Given the description of an element on the screen output the (x, y) to click on. 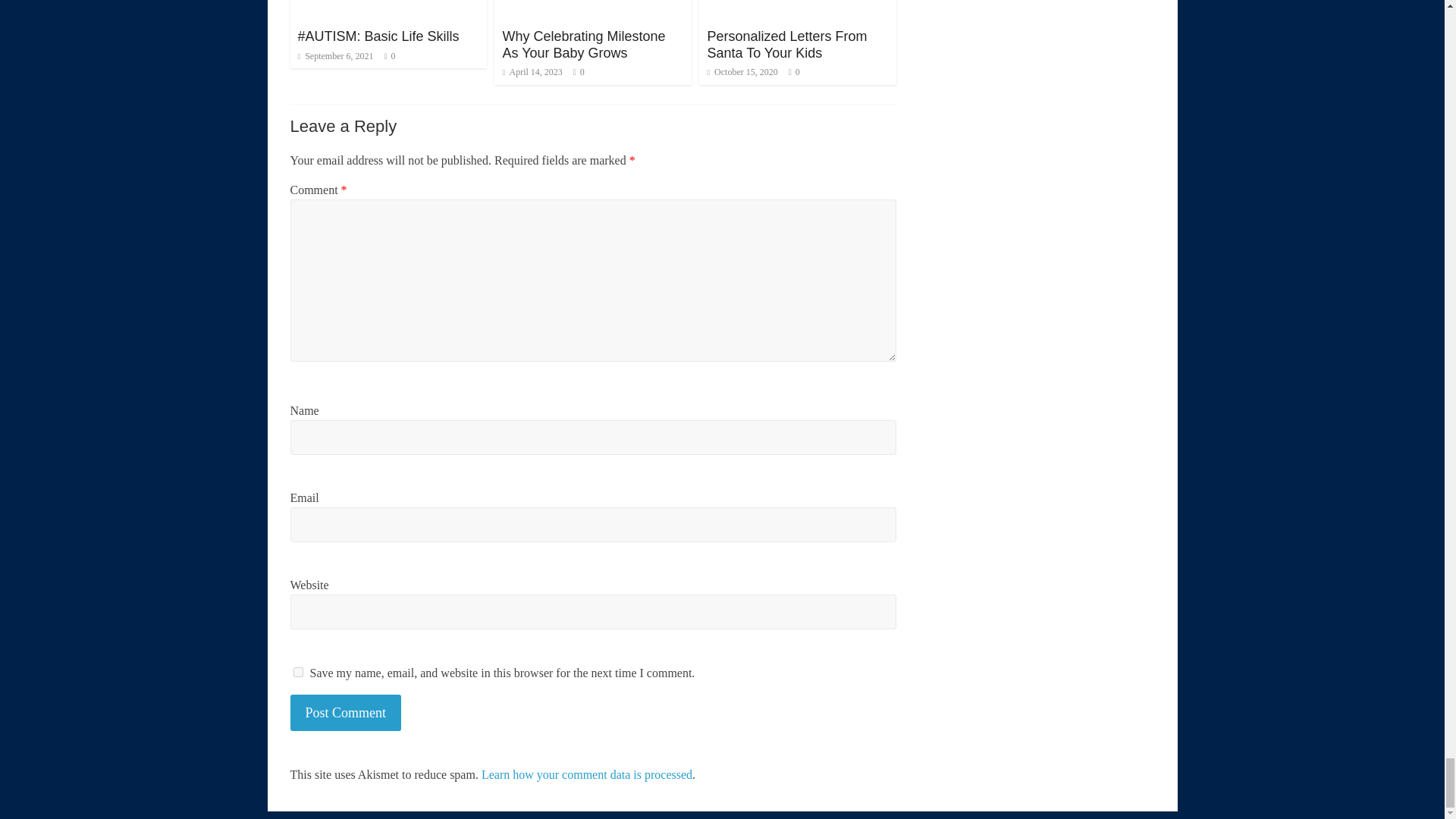
7:20 pm (532, 71)
7:16 am (334, 55)
Why Celebrating Milestone As Your Baby Grows (583, 44)
Post Comment (345, 713)
yes (297, 672)
